Given the description of an element on the screen output the (x, y) to click on. 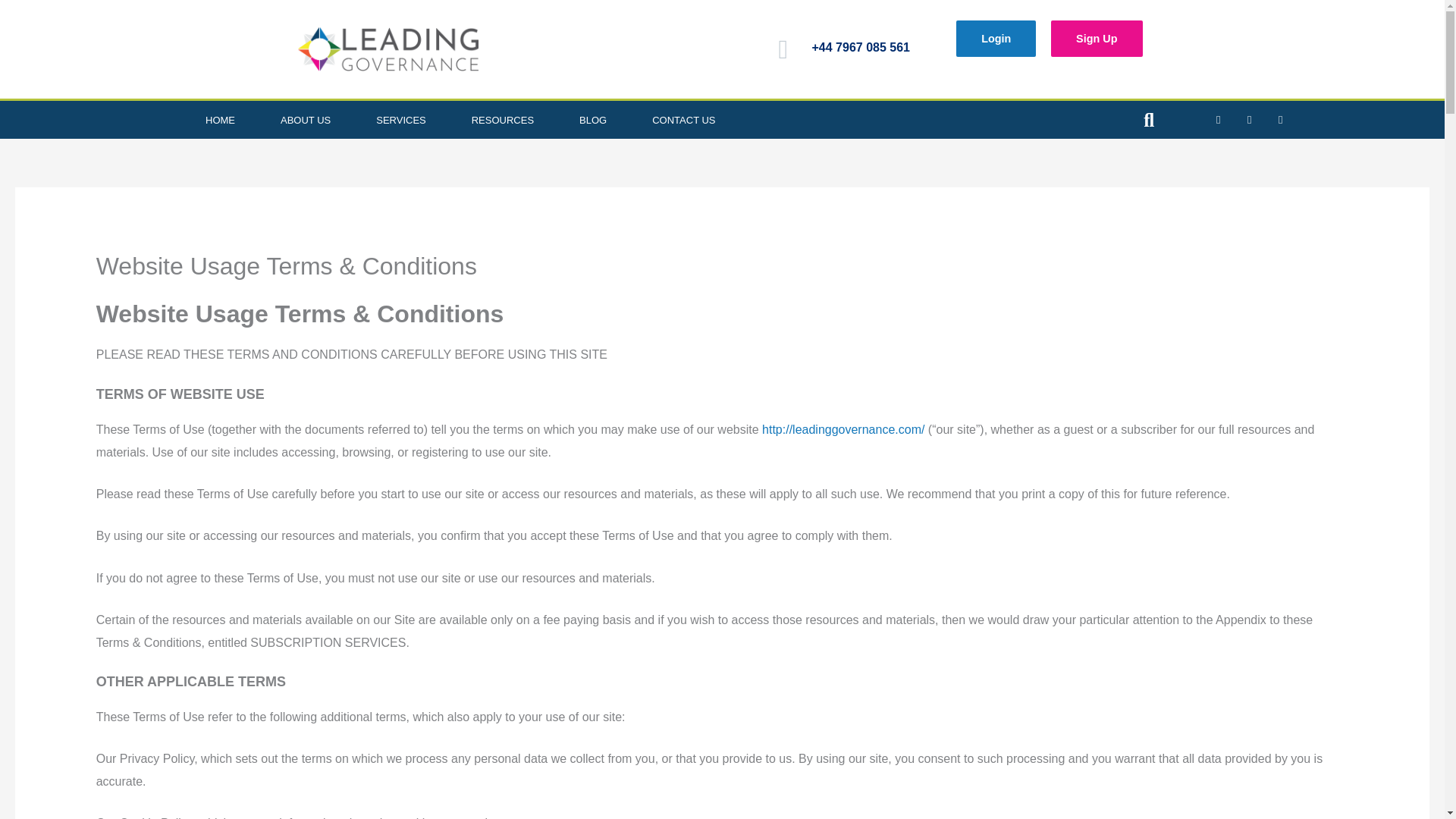
BLOG (592, 119)
Login (995, 38)
SERVICES (400, 119)
Sign Up (1096, 38)
CONTACT US (683, 119)
ABOUT US (305, 119)
RESOURCES (502, 119)
HOME (220, 119)
